Given the description of an element on the screen output the (x, y) to click on. 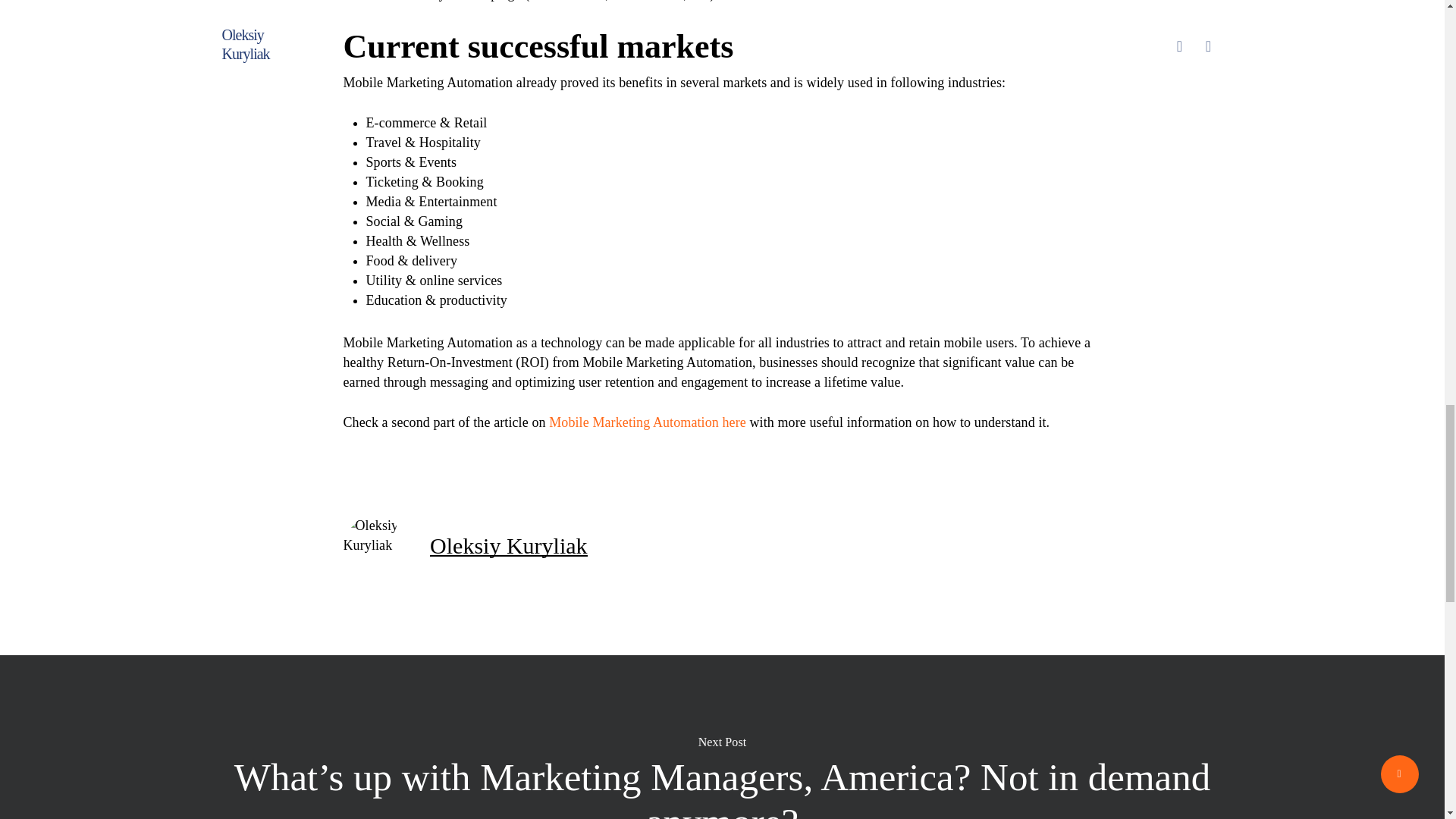
Oleksiy Kuryliak (507, 545)
Mobile Marketing Automation here (646, 421)
